Given the description of an element on the screen output the (x, y) to click on. 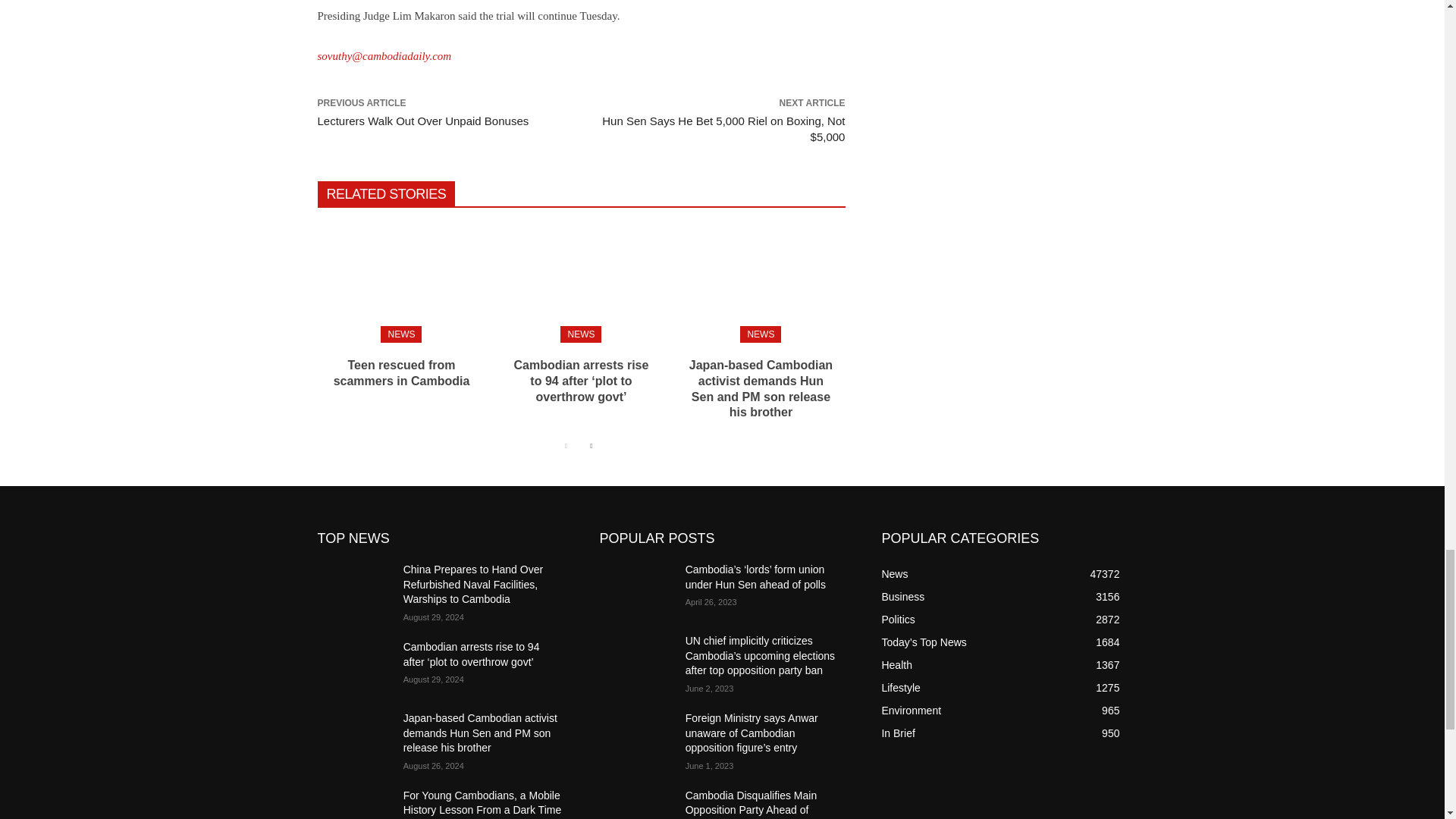
Teen rescued from scammers in Cambodia (401, 372)
Teen rescued from scammers in Cambodia (400, 280)
Lecturers Walk Out Over Unpaid Bonuses (422, 120)
Teen rescued from scammers in Cambodia (401, 372)
NEWS (580, 334)
NEWS (401, 334)
